Given the description of an element on the screen output the (x, y) to click on. 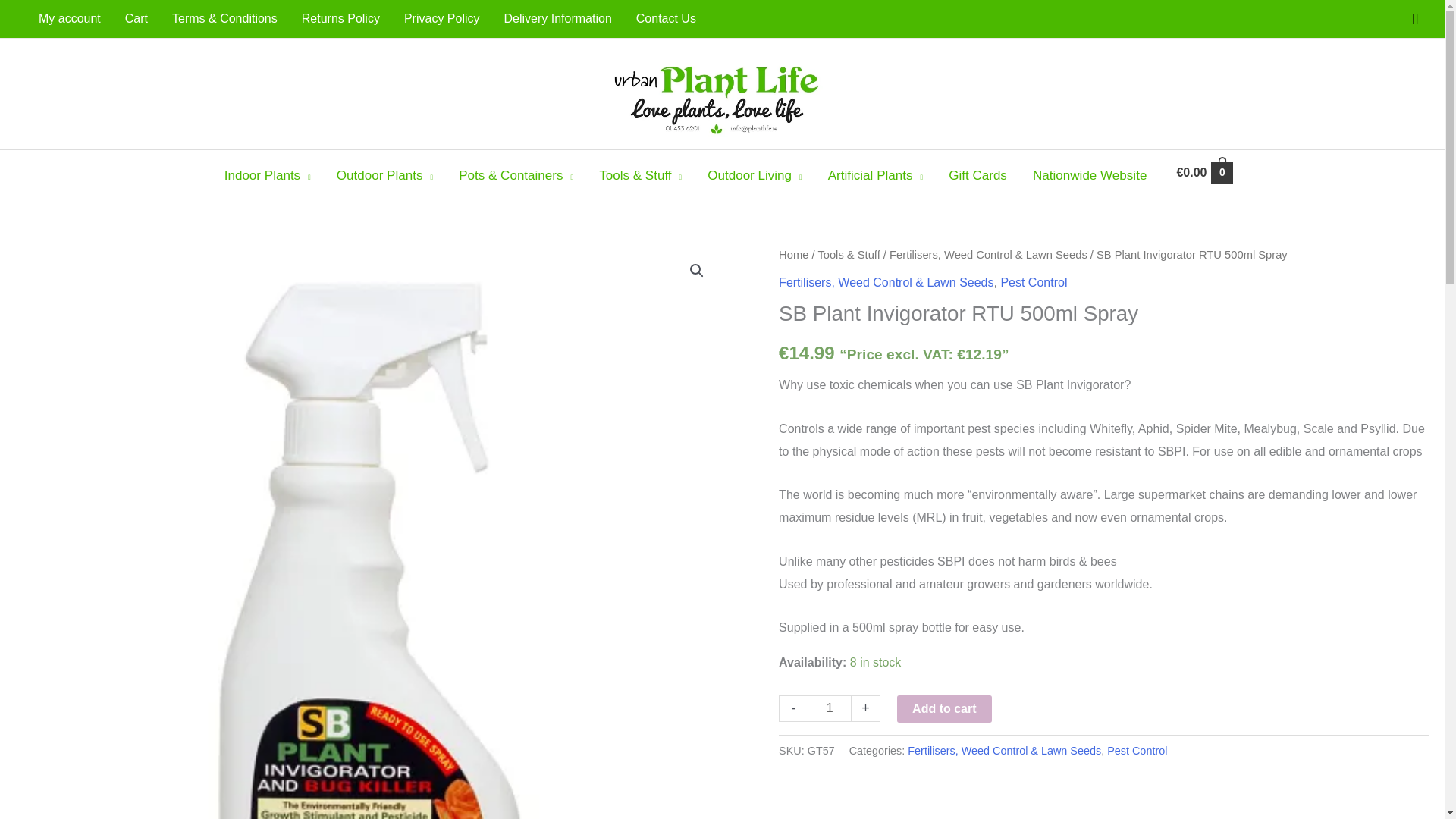
Outdoor Plants (384, 175)
Contact Us (665, 18)
Delivery Information (557, 18)
1 (829, 708)
Returns Policy (340, 18)
Indoor Plants (267, 175)
Cart (136, 18)
Privacy Policy (441, 18)
My account (69, 18)
